Given the description of an element on the screen output the (x, y) to click on. 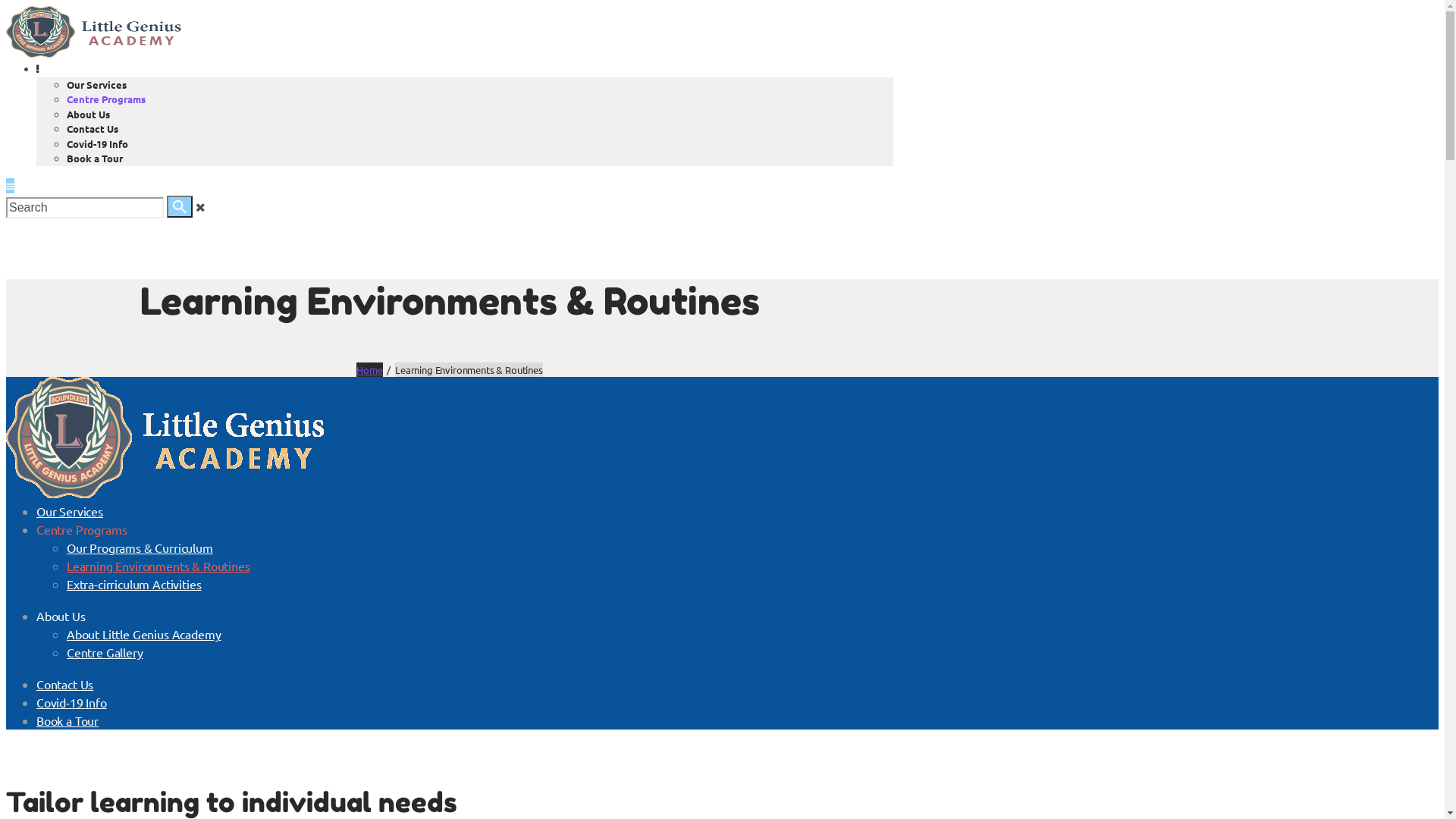
Centre Gallery Element type: text (104, 651)
Our Services Element type: text (96, 83)
Extra-cirriculum Activities Element type: text (133, 583)
About Us Element type: text (87, 113)
Book a Tour Element type: text (94, 157)
About Little Genius Academy Element type: text (143, 633)
Our Programs & Curriculum Element type: text (139, 547)
Centre Programs Element type: text (105, 98)
Centre Programs Element type: text (81, 528)
Contact Us Element type: text (92, 128)
Learning Environments & Routines Element type: text (158, 565)
Book a Tour Element type: text (67, 720)
About Us Element type: text (60, 615)
Home Element type: text (369, 369)
Our Services Element type: text (69, 510)
Covid-19 Info Element type: text (71, 701)
Contact Us Element type: text (64, 683)
Covid-19 Info Element type: text (97, 142)
